Given the description of an element on the screen output the (x, y) to click on. 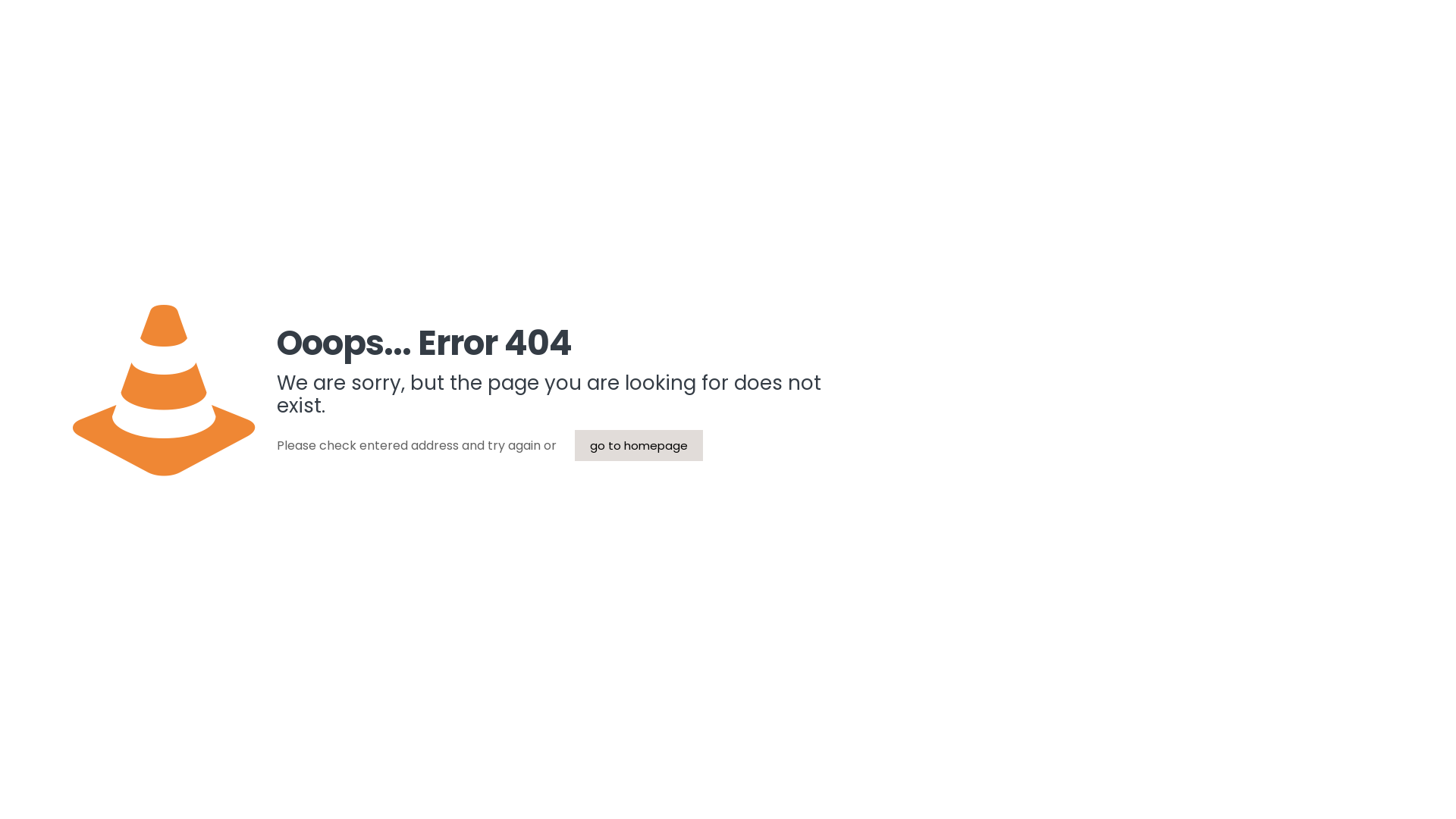
go to homepage Element type: text (638, 445)
